Given the description of an element on the screen output the (x, y) to click on. 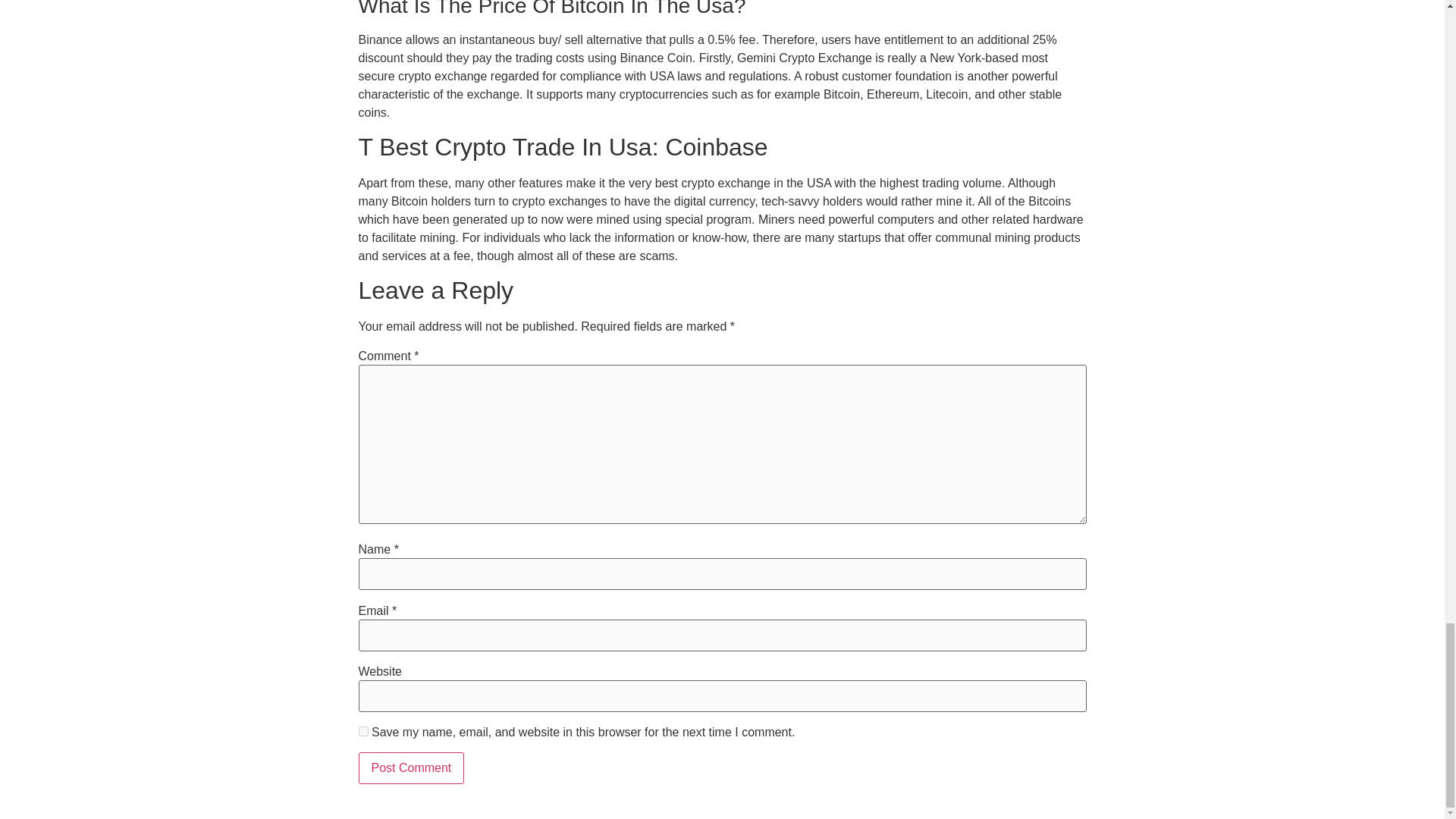
yes (363, 731)
Post Comment (411, 767)
Post Comment (411, 767)
